Given the description of an element on the screen output the (x, y) to click on. 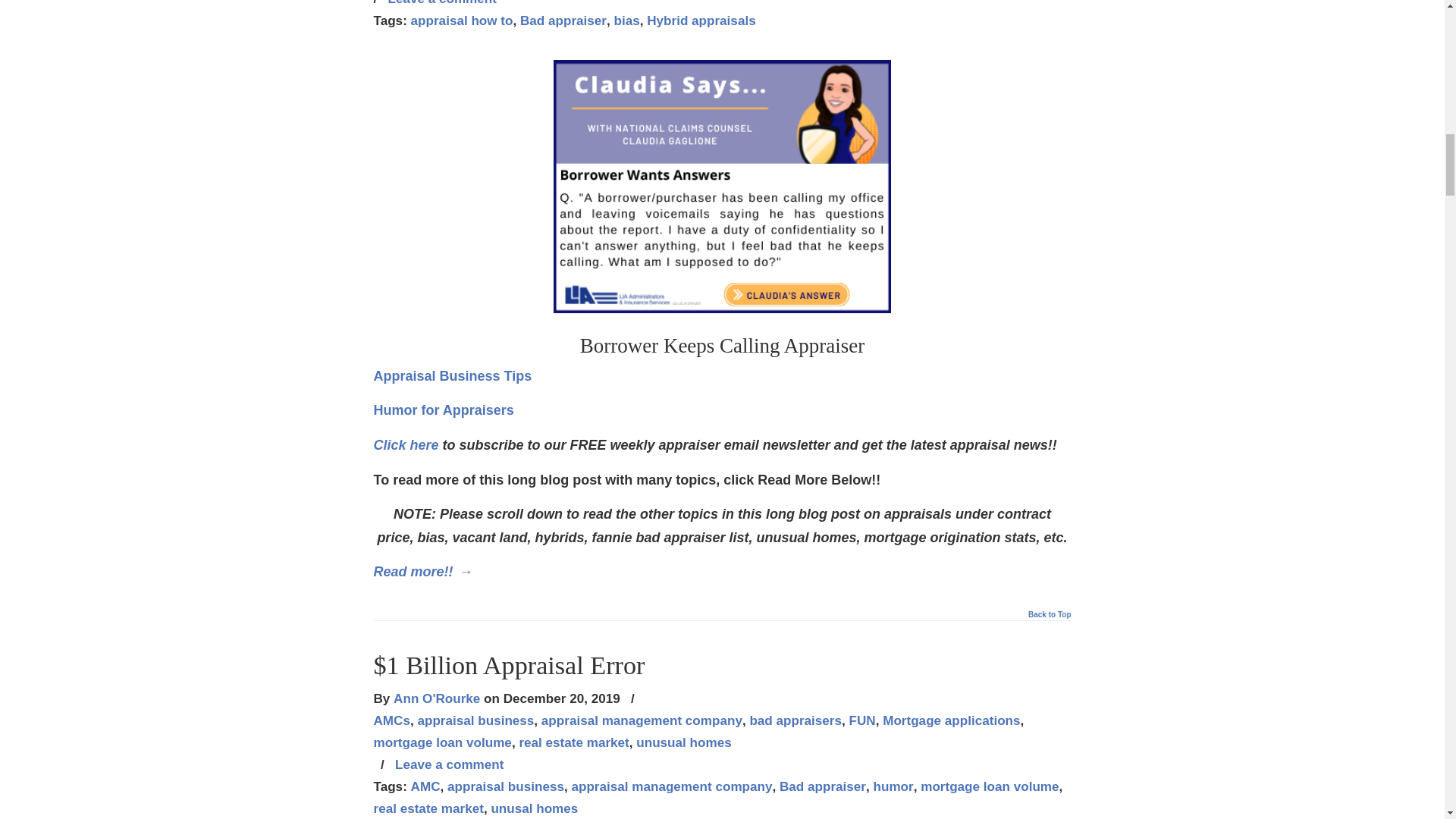
Top of Page (1048, 618)
Posts by Ann O'Rourke (436, 698)
Read more!! (421, 571)
